Given the description of an element on the screen output the (x, y) to click on. 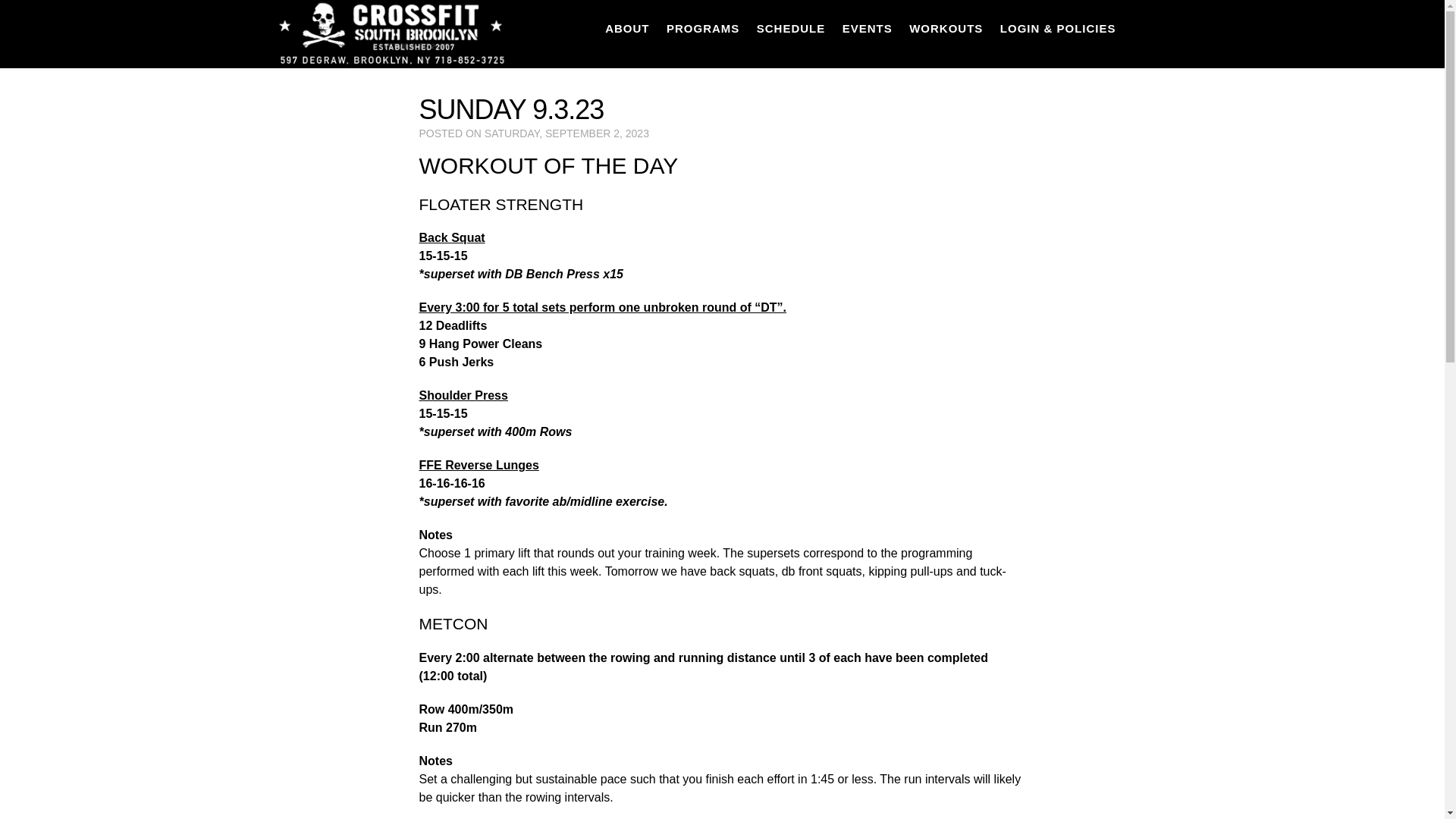
CROSSFIT SOUTH BROOKLYN (389, 33)
WORKOUTS (946, 28)
EVENTS (867, 28)
PROGRAMS (702, 28)
SCHEDULE (790, 28)
ABOUT (627, 28)
